Given the description of an element on the screen output the (x, y) to click on. 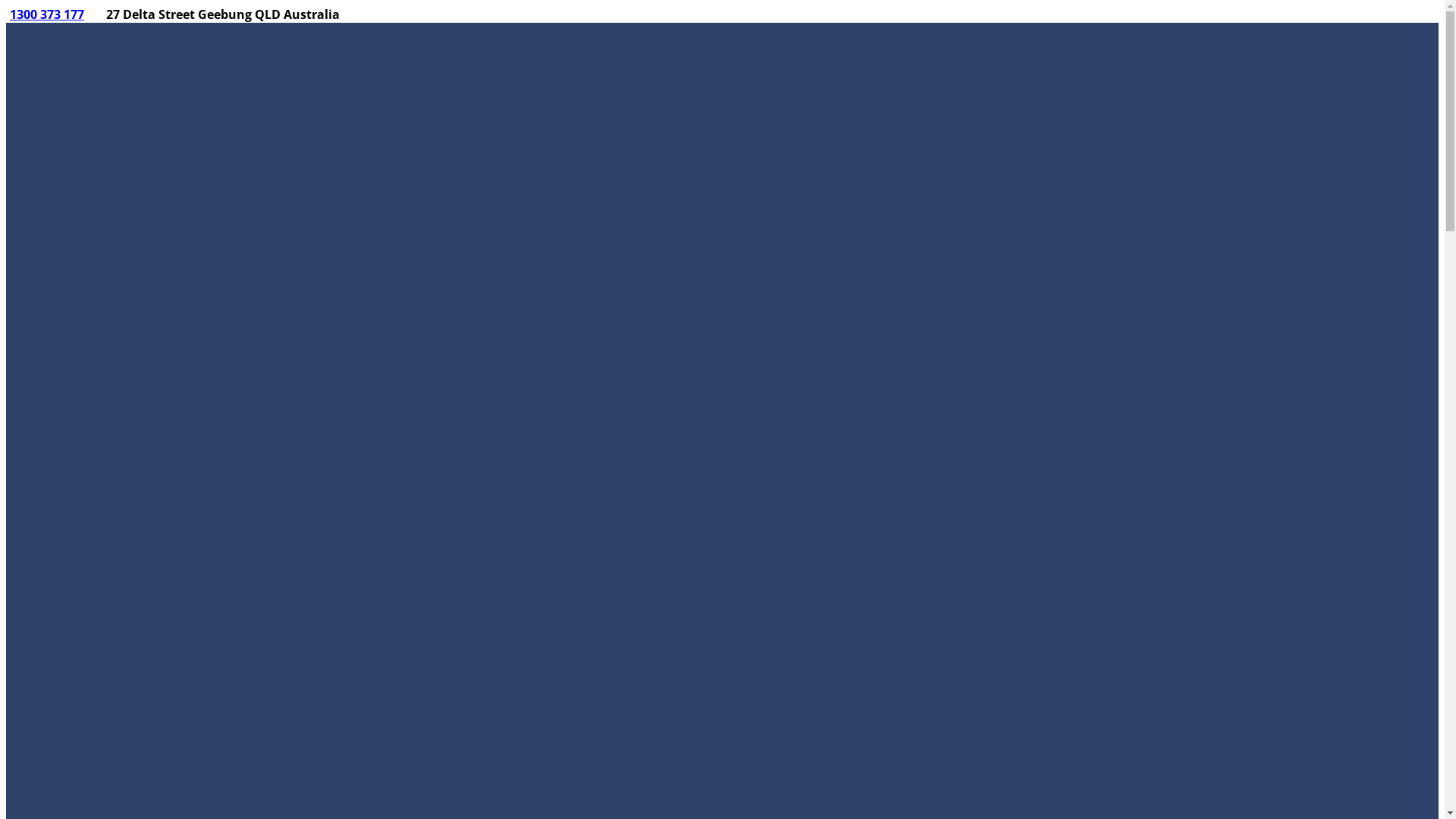
1300 373 177 Element type: text (46, 14)
